Given the description of an element on the screen output the (x, y) to click on. 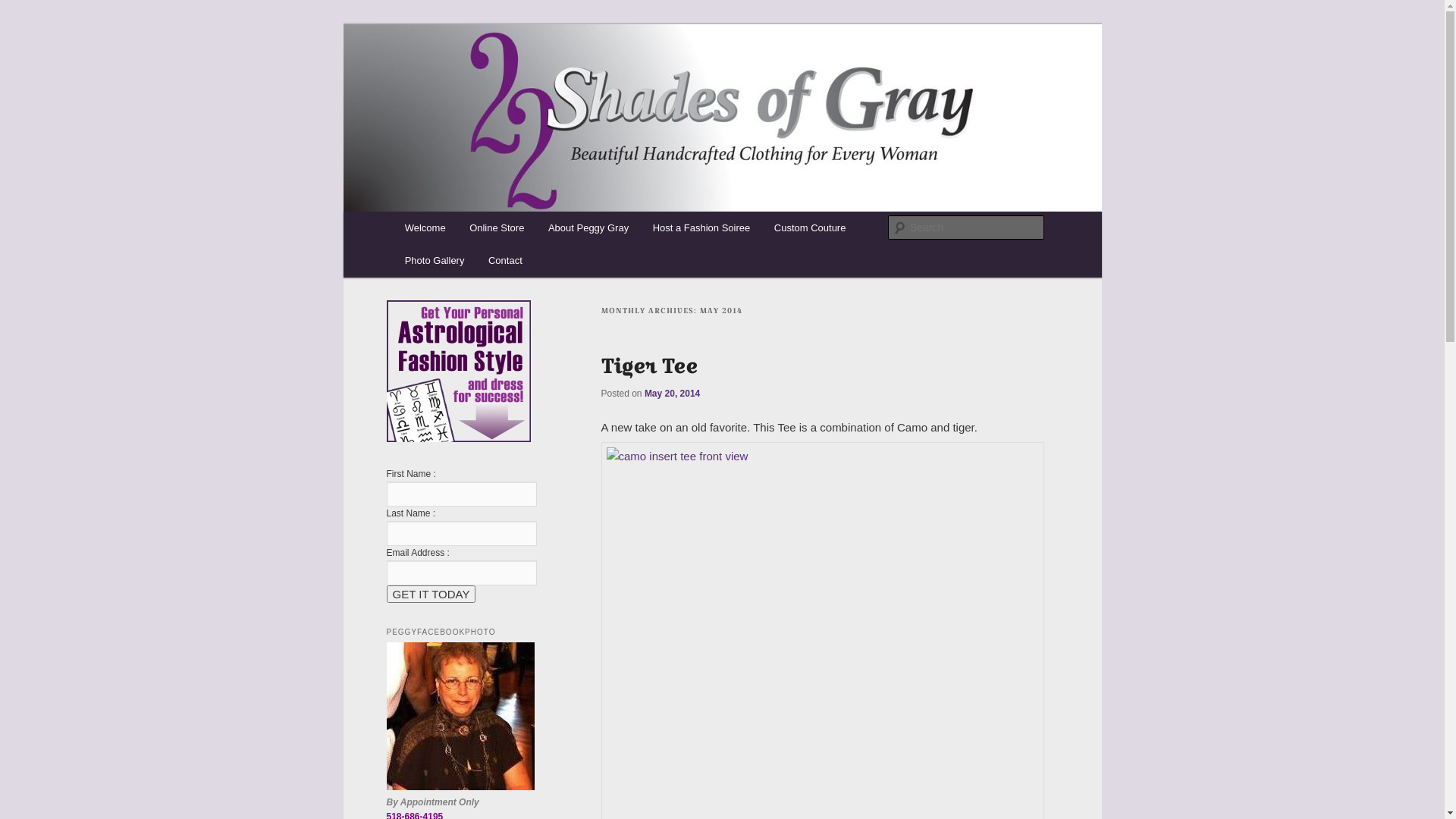
Search Element type: text (24, 8)
Photo Gallery Element type: text (434, 260)
Tiger Tee Element type: text (648, 365)
Custom Couture Element type: text (809, 227)
Online Store Element type: text (496, 227)
Welcome Element type: text (424, 227)
Host a Fashion Soiree Element type: text (701, 227)
About Peggy Gray Element type: text (588, 227)
Skip to primary content Element type: text (22, 22)
May 20, 2014 Element type: text (671, 393)
Contact Element type: text (504, 260)
GET IT TODAY Element type: text (431, 593)
